Given the description of an element on the screen output the (x, y) to click on. 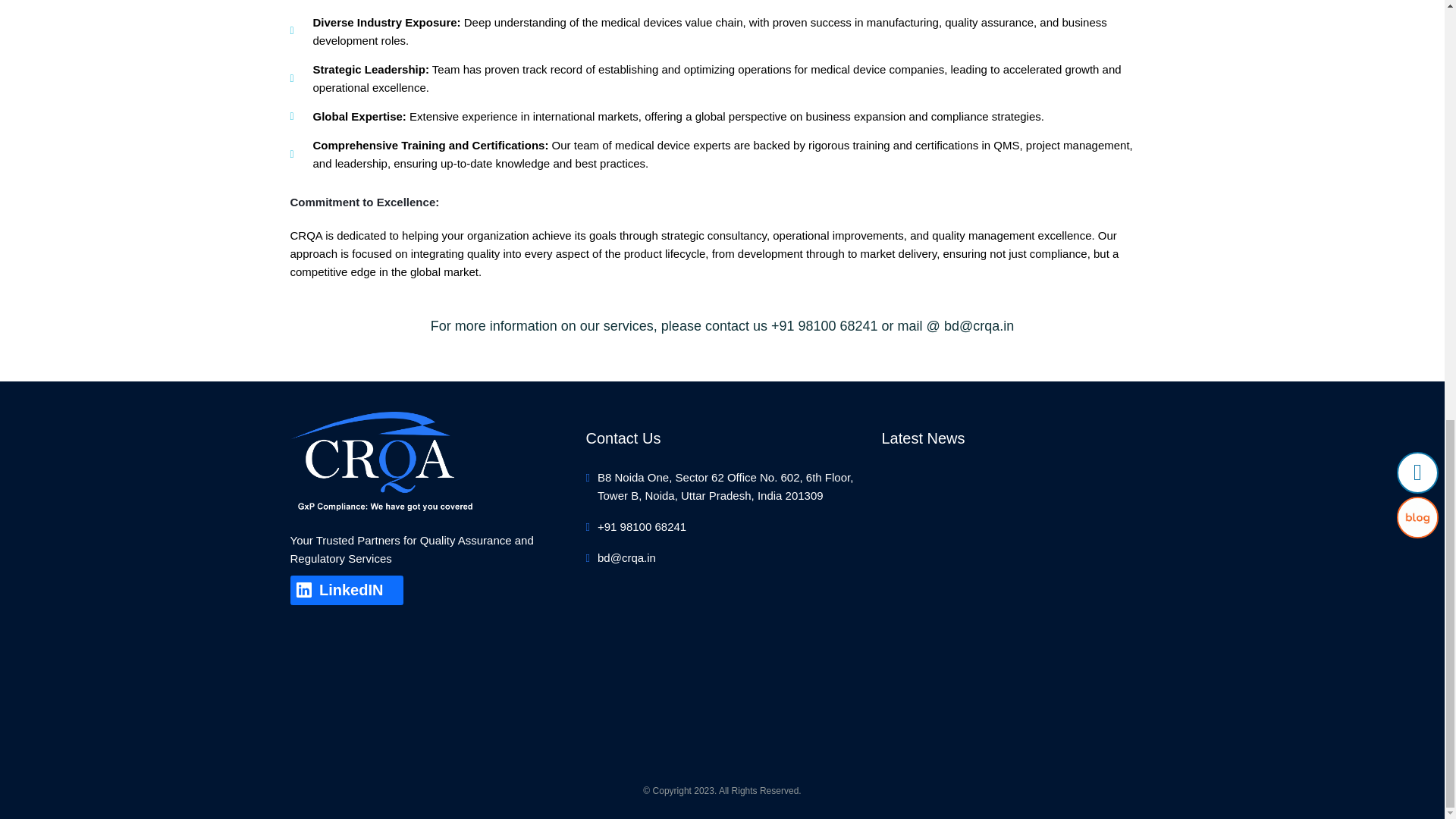
LinkedIn (346, 590)
